Given the description of an element on the screen output the (x, y) to click on. 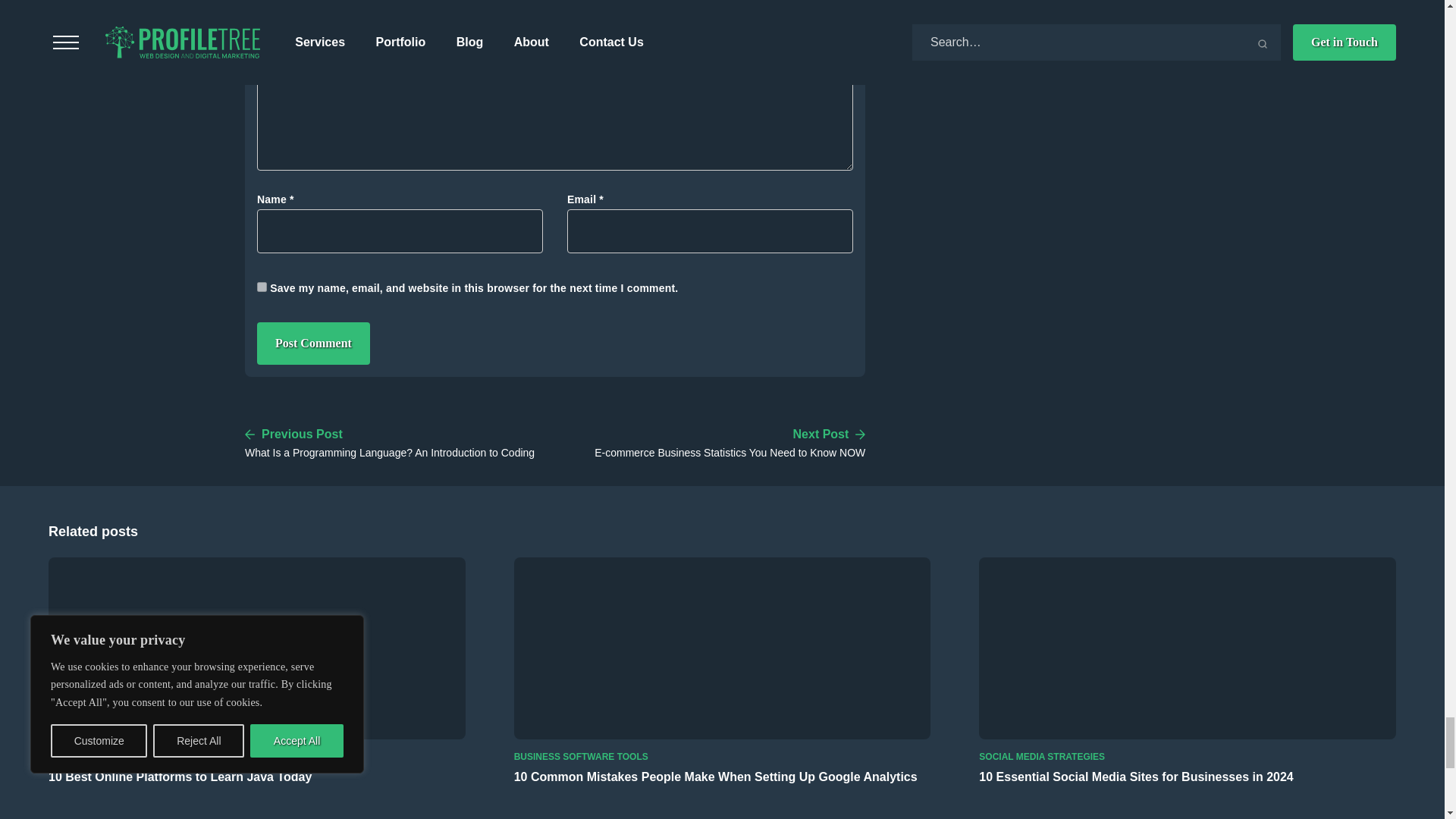
yes (261, 286)
Post Comment (313, 343)
